Given the description of an element on the screen output the (x, y) to click on. 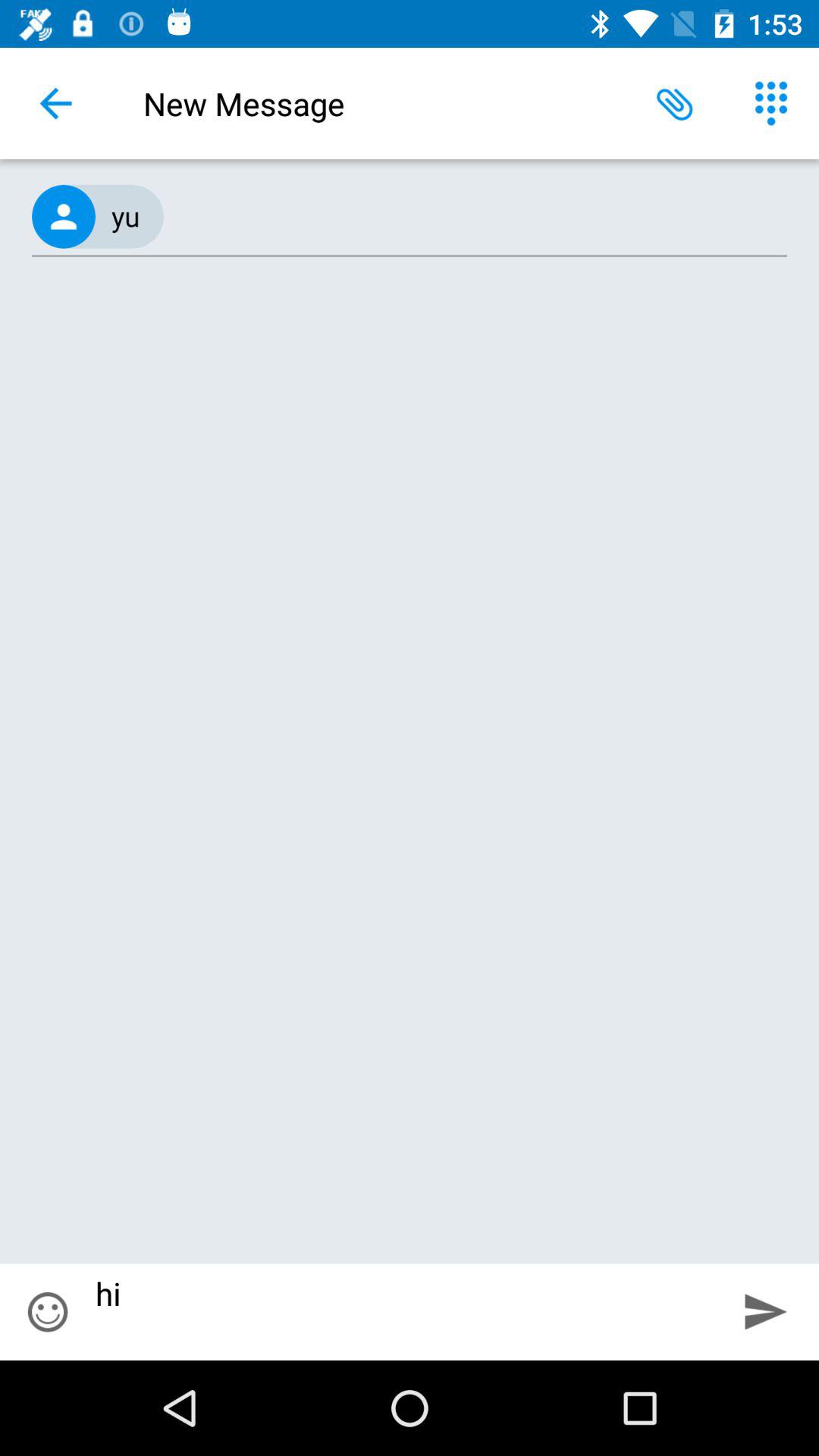
flip to hi
 item (404, 1311)
